Given the description of an element on the screen output the (x, y) to click on. 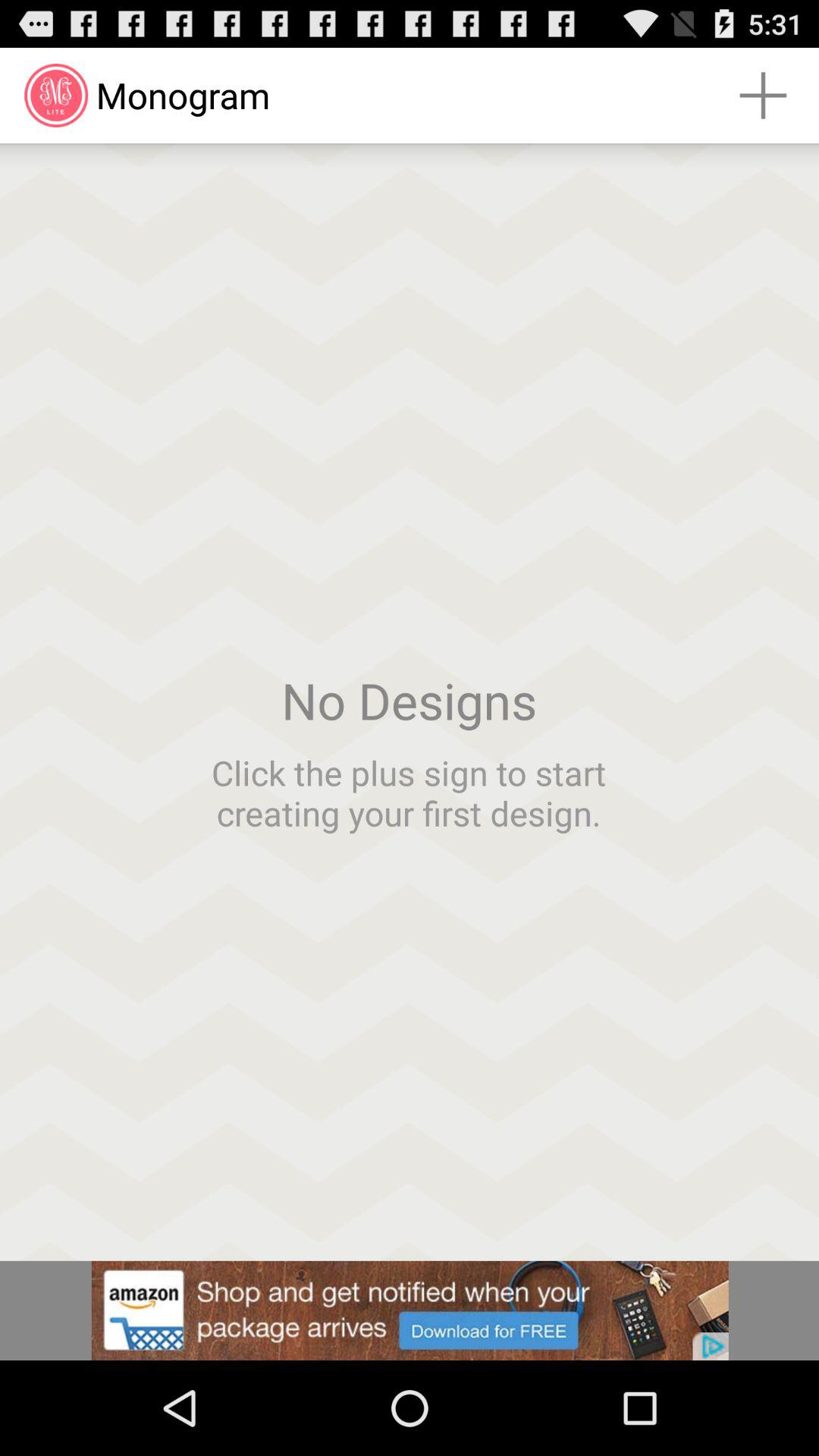
advertisement space (409, 1310)
